Given the description of an element on the screen output the (x, y) to click on. 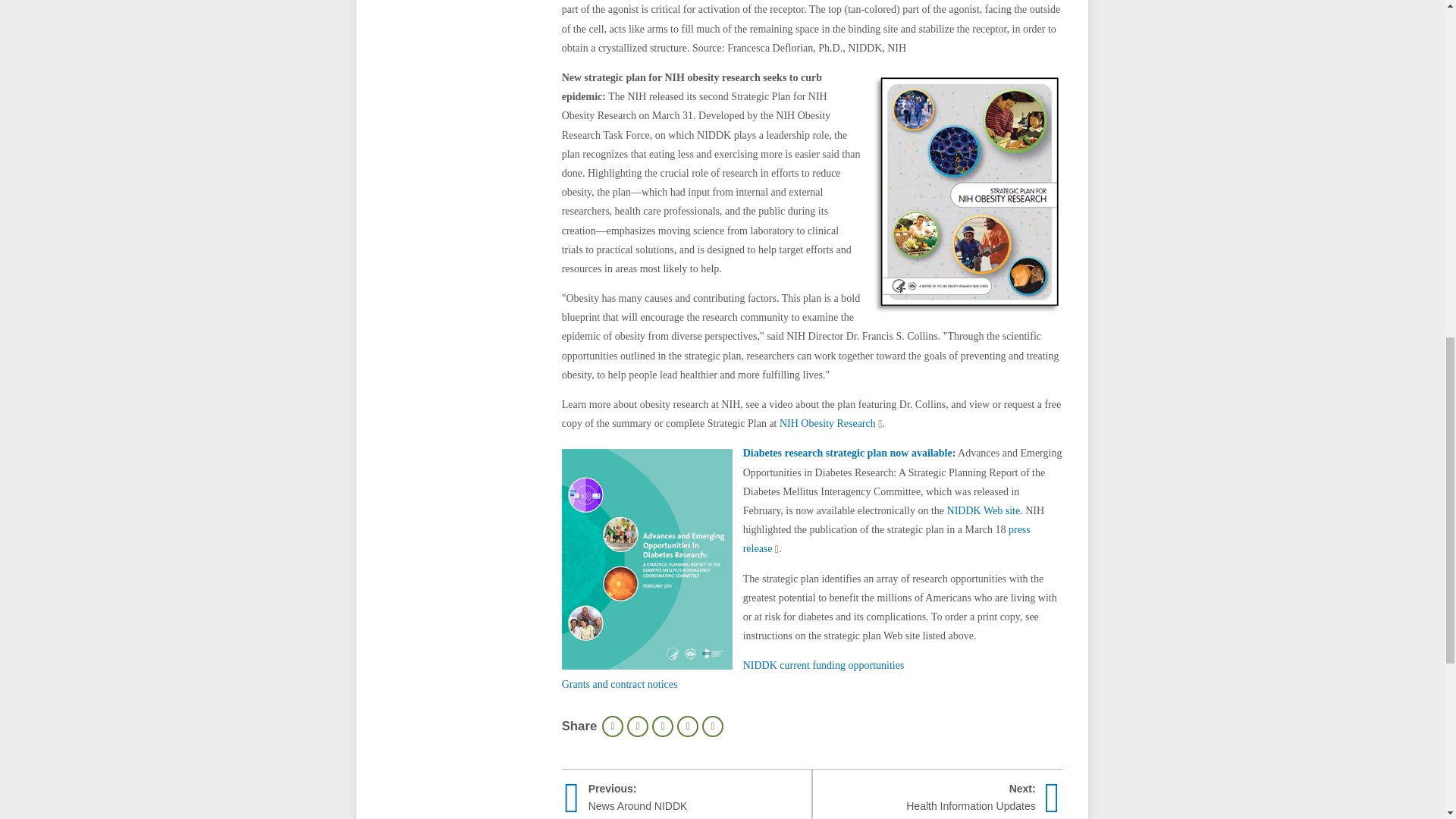
More sharing options (712, 726)
Post this page on X (662, 726)
Share this page on Facebook (637, 726)
Print this page (612, 726)
Email this page (687, 726)
